Given the description of an element on the screen output the (x, y) to click on. 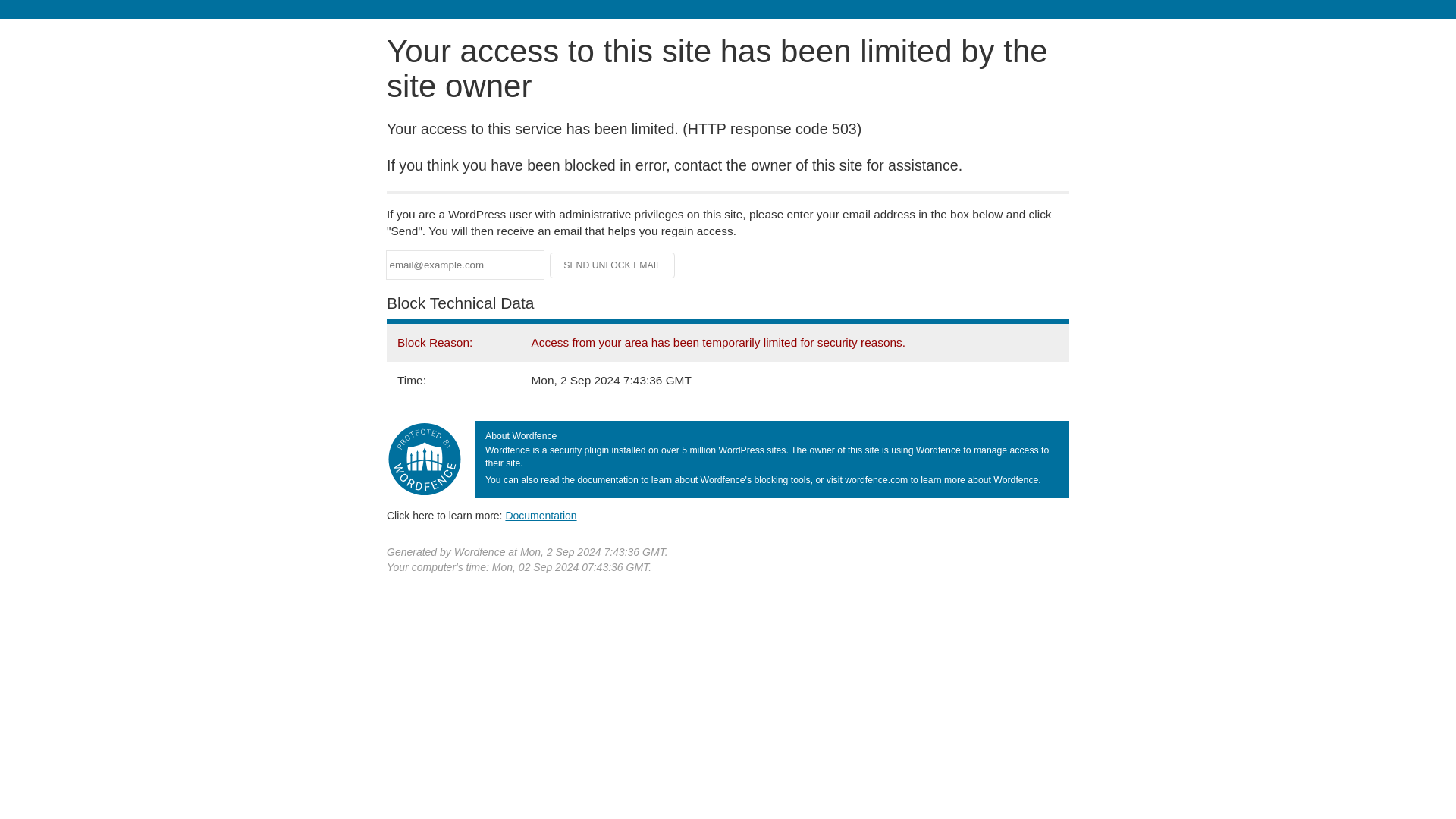
Send Unlock Email (612, 265)
Send Unlock Email (612, 265)
Documentation (540, 515)
